Given the description of an element on the screen output the (x, y) to click on. 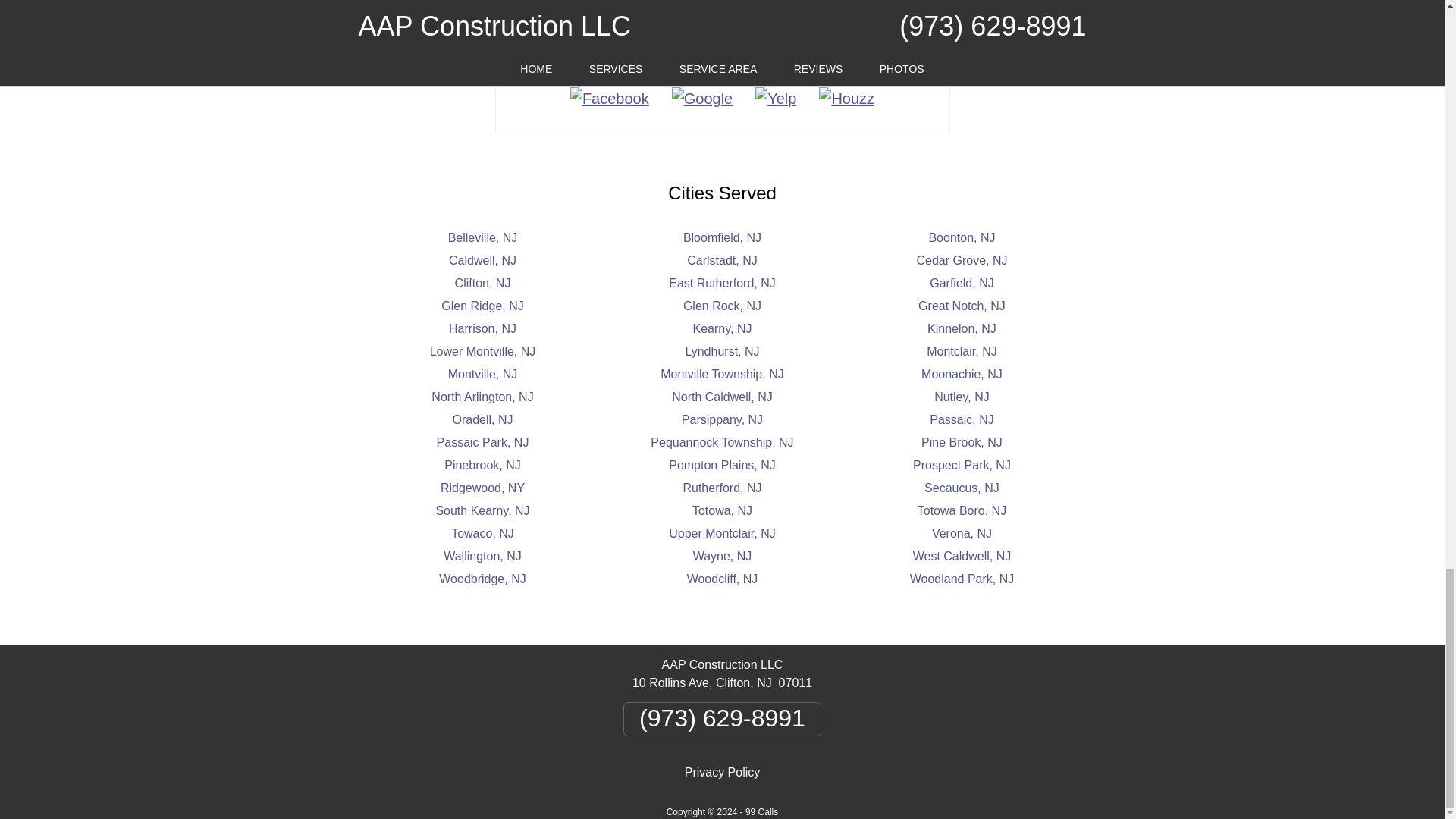
Yelp (776, 98)
Houzz (846, 98)
Carlstadt, NJ (722, 259)
Boonton, NJ (961, 237)
Garfield, NJ (961, 282)
Clifton, NJ (482, 282)
Bloomfield, NJ (721, 237)
Belleville, NJ (483, 237)
East Rutherford, NJ (722, 282)
Facebook (610, 98)
Cedar Grove, NJ (961, 259)
Glen Ridge, NJ (482, 305)
Google (702, 98)
Caldwell, NJ (482, 259)
